Given the description of an element on the screen output the (x, y) to click on. 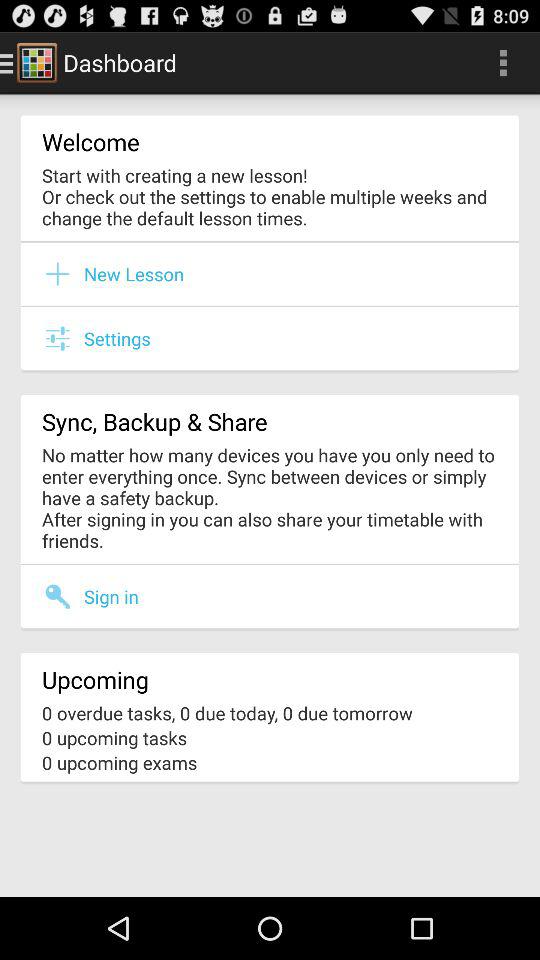
press item above the upcoming icon (63, 596)
